Given the description of an element on the screen output the (x, y) to click on. 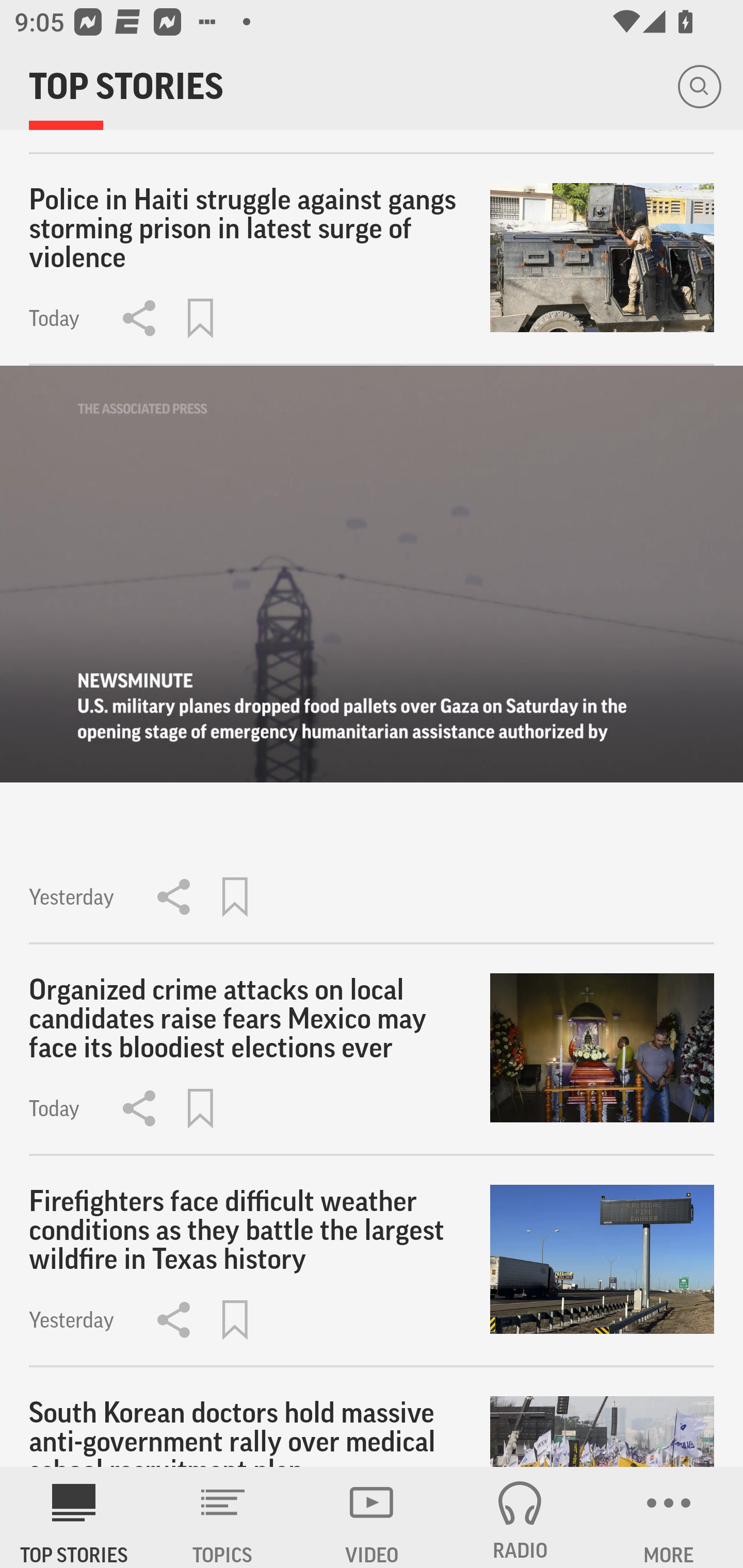
toggle controls Yesterday (371, 654)
toggle controls (371, 573)
AP News TOP STORIES (74, 1517)
TOPICS (222, 1517)
VIDEO (371, 1517)
RADIO (519, 1517)
MORE (668, 1517)
